Given the description of an element on the screen output the (x, y) to click on. 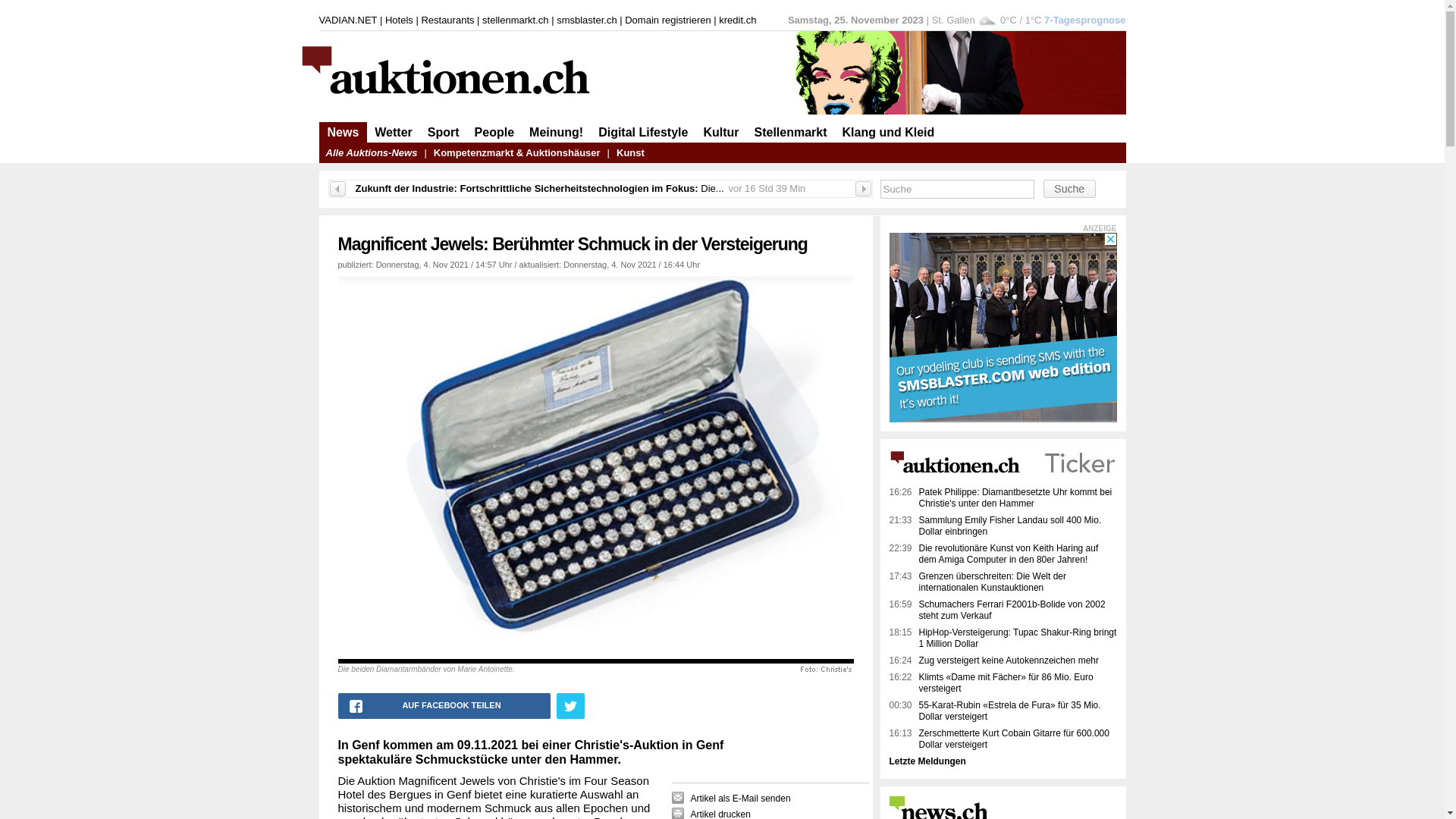
Kultur Element type: text (720, 131)
Auktionen.ch Element type: hover (1000, 481)
Zug versteigert keine Autokennzeichen mehr Element type: text (1018, 660)
stellenmarkt.ch Element type: text (515, 19)
Wetter Element type: text (393, 131)
3rd party ad content Element type: hover (721, 215)
Meinung! Element type: text (556, 131)
Alle Auktions-News Element type: text (371, 152)
VADIAN.NET Element type: text (347, 19)
7-Tagesprognose Element type: text (1084, 19)
Schumachers Ferrari F2001b-Bolide von 2002 steht zum Verkauf Element type: text (1018, 610)
People Element type: text (494, 131)
Stellenmarkt Element type: text (789, 131)
3rd party ad content Element type: hover (1002, 327)
Kunst Element type: text (630, 152)
Letzte Meldungen Element type: text (926, 761)
auktionen.ch Element type: hover (490, 101)
  Element type: text (570, 705)
News Element type: text (343, 131)
Artikel als E-Mail senden Element type: text (730, 797)
Sport Element type: text (443, 131)
kredit.ch Element type: text (737, 19)
ANZEIGE Element type: text (1099, 228)
Restaurants Element type: text (446, 19)
Digital Lifestyle Element type: text (642, 131)
Klang und Kleid Element type: text (888, 131)
Hotels Element type: text (399, 19)
AUF FACEBOOK TEILEN Element type: text (444, 705)
Domain registrieren Element type: text (667, 19)
smsblaster.ch Element type: text (586, 19)
Sammlung Emily Fisher Landau soll 400 Mio. Dollar einbringen Element type: text (1018, 525)
